Given the description of an element on the screen output the (x, y) to click on. 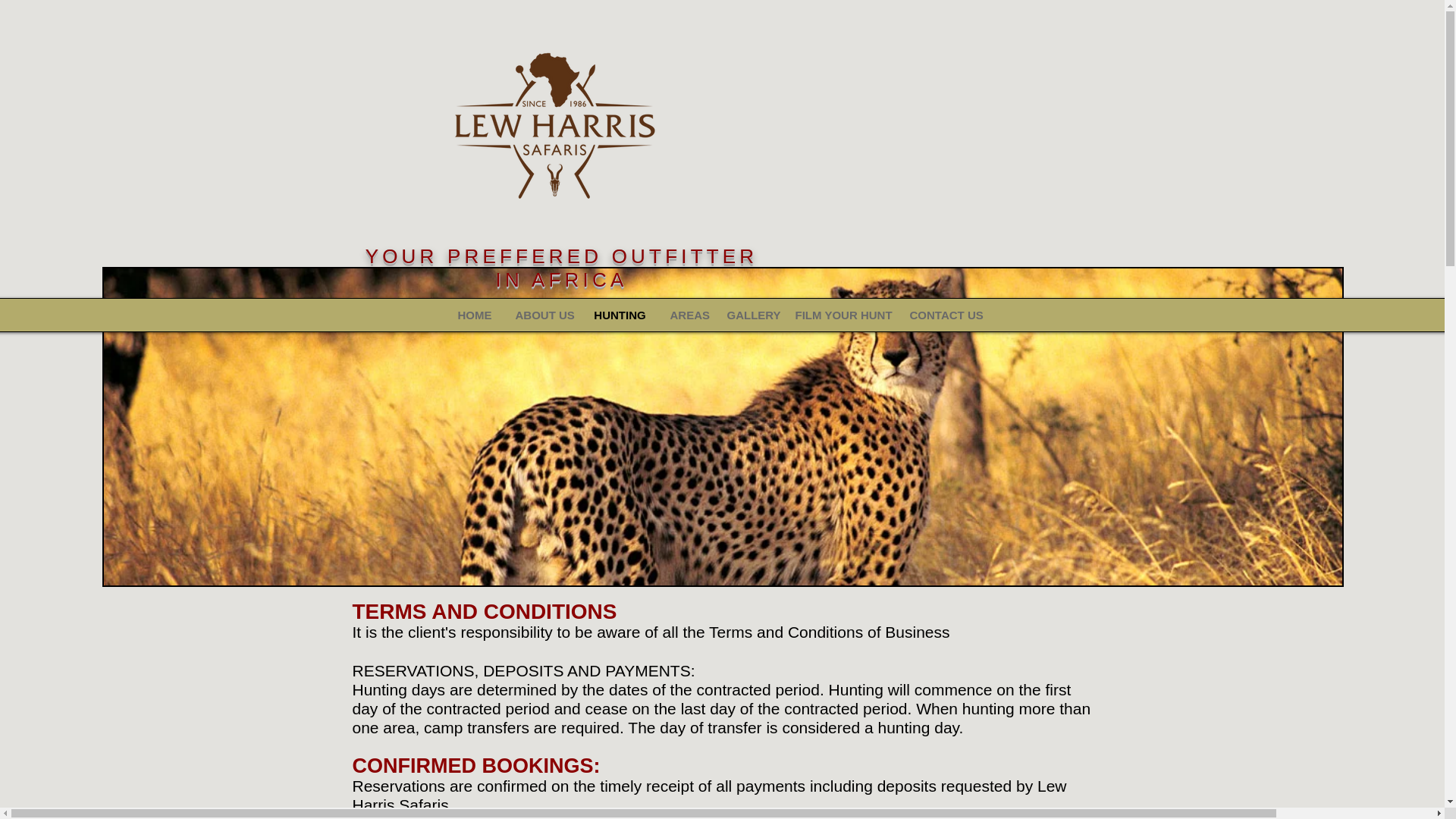
HUNTING (619, 314)
AREAS (686, 314)
HOME (474, 314)
Wix Chat (1303, 782)
FILM YOUR HUNT (839, 314)
CONTACT US (945, 314)
GALLERY (748, 314)
ABOUT US (541, 314)
